Given the description of an element on the screen output the (x, y) to click on. 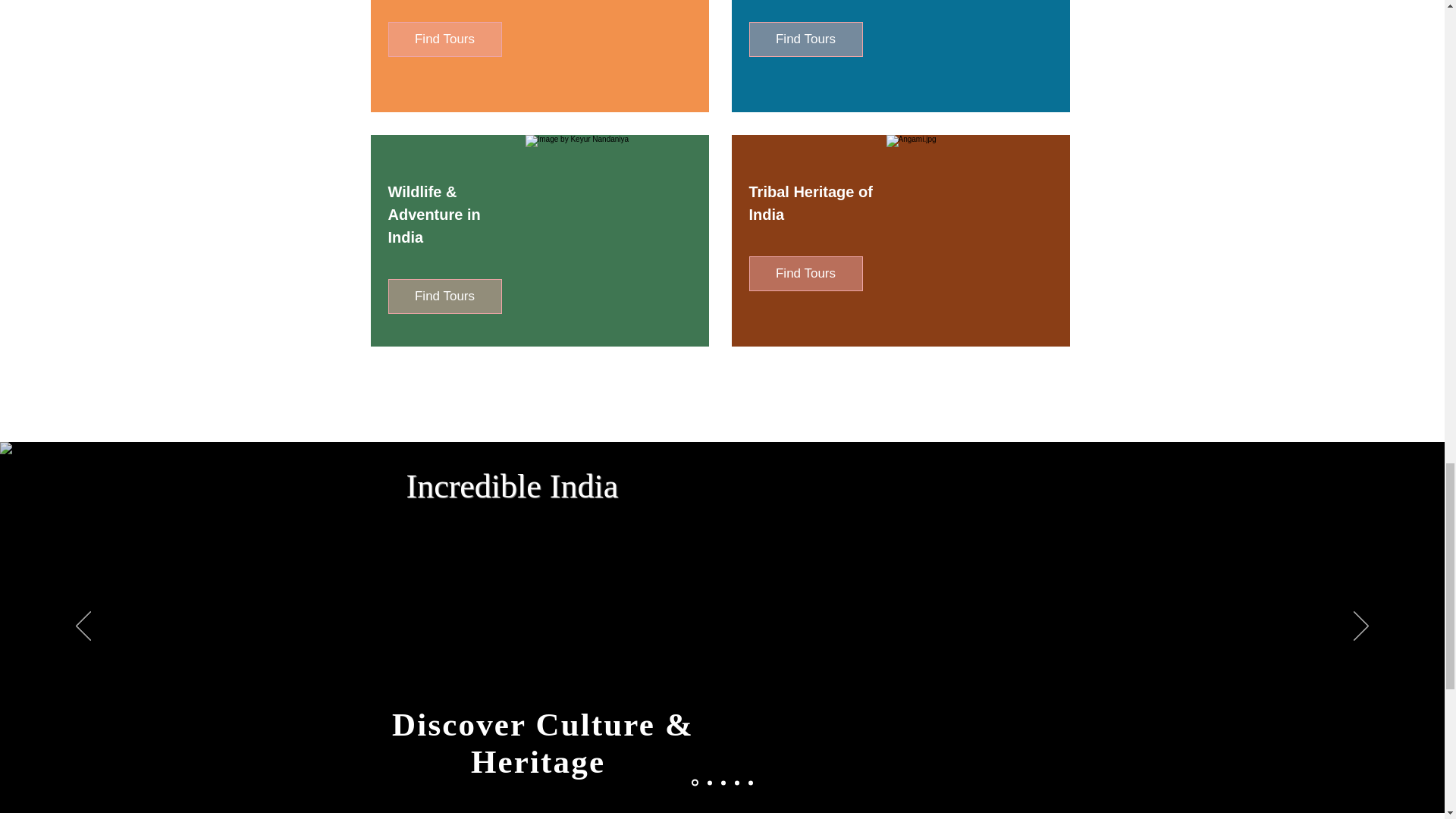
Find Tours (806, 273)
Find Tours (806, 39)
Find Tours (445, 39)
Find Tours (445, 296)
